Given the description of an element on the screen output the (x, y) to click on. 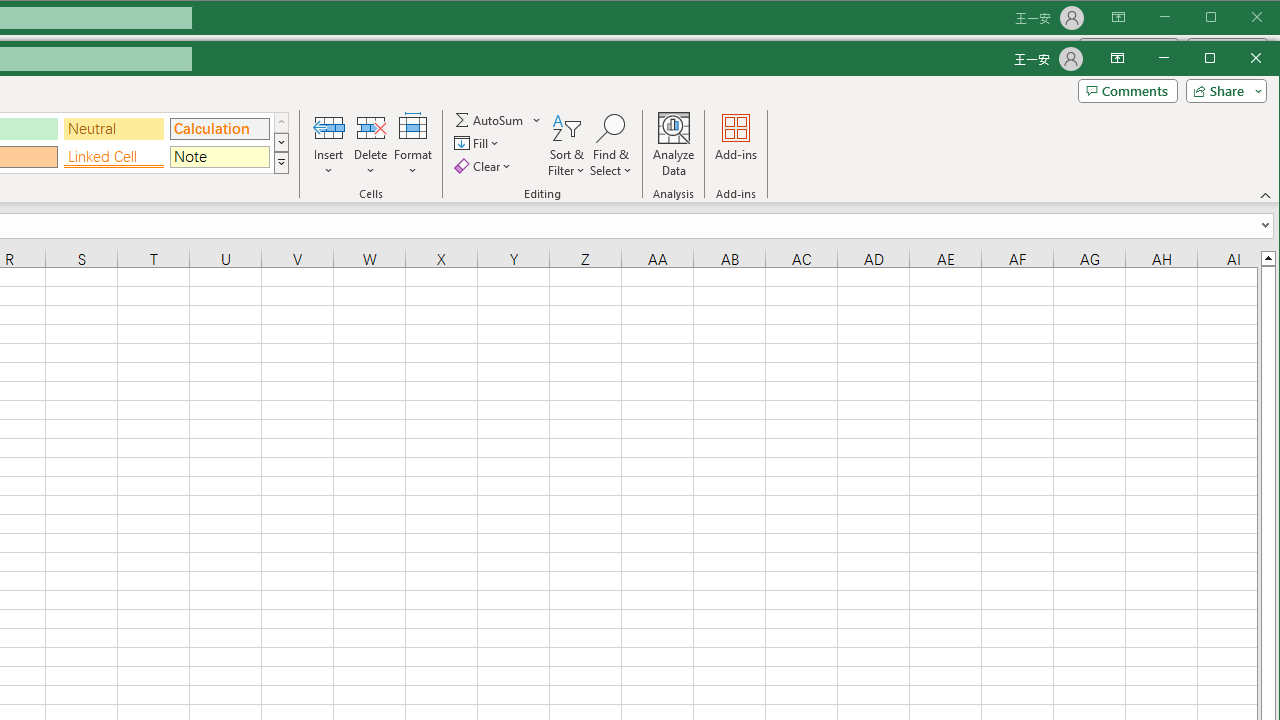
Delete (370, 145)
Insert Cells (328, 127)
AutoSum (498, 119)
More Options (537, 119)
Collapse the Ribbon (1266, 195)
Fill (477, 142)
Comments (1127, 90)
Minimize (1216, 60)
Neutral (113, 129)
Row up (281, 122)
Insert (328, 145)
Maximize (1238, 60)
Class: NetUIImage (281, 163)
